Given the description of an element on the screen output the (x, y) to click on. 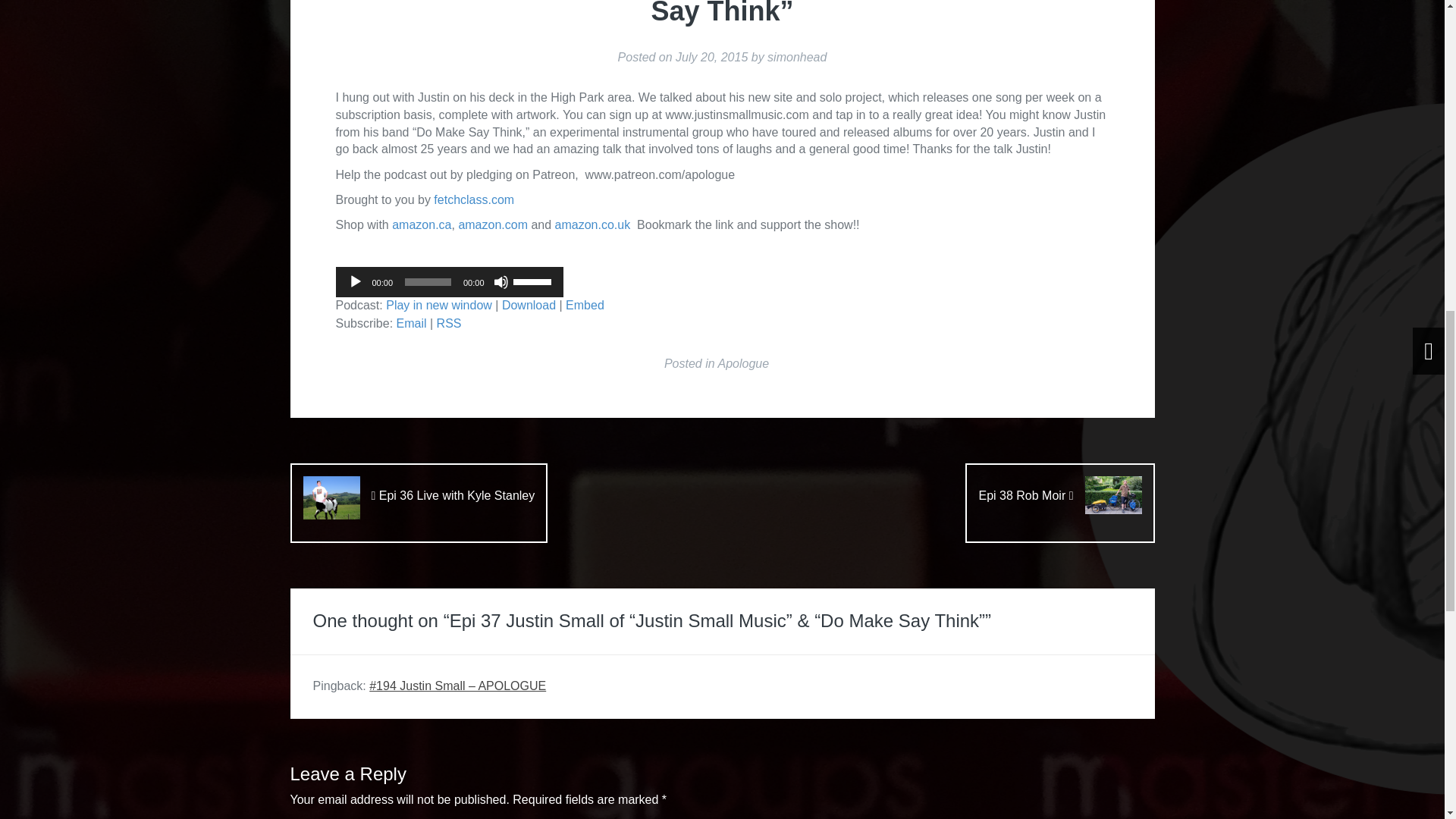
July 20, 2015 (711, 56)
simonhead (797, 56)
Embed (585, 305)
Download (529, 305)
fetchclass.com (473, 199)
Subscribe by Email (411, 323)
amazon.ca (421, 224)
Mute (500, 281)
amazon.com (492, 224)
Subscribe via RSS (448, 323)
amazon.co.uk (592, 224)
Play in new window (438, 305)
Play (354, 281)
